Given the description of an element on the screen output the (x, y) to click on. 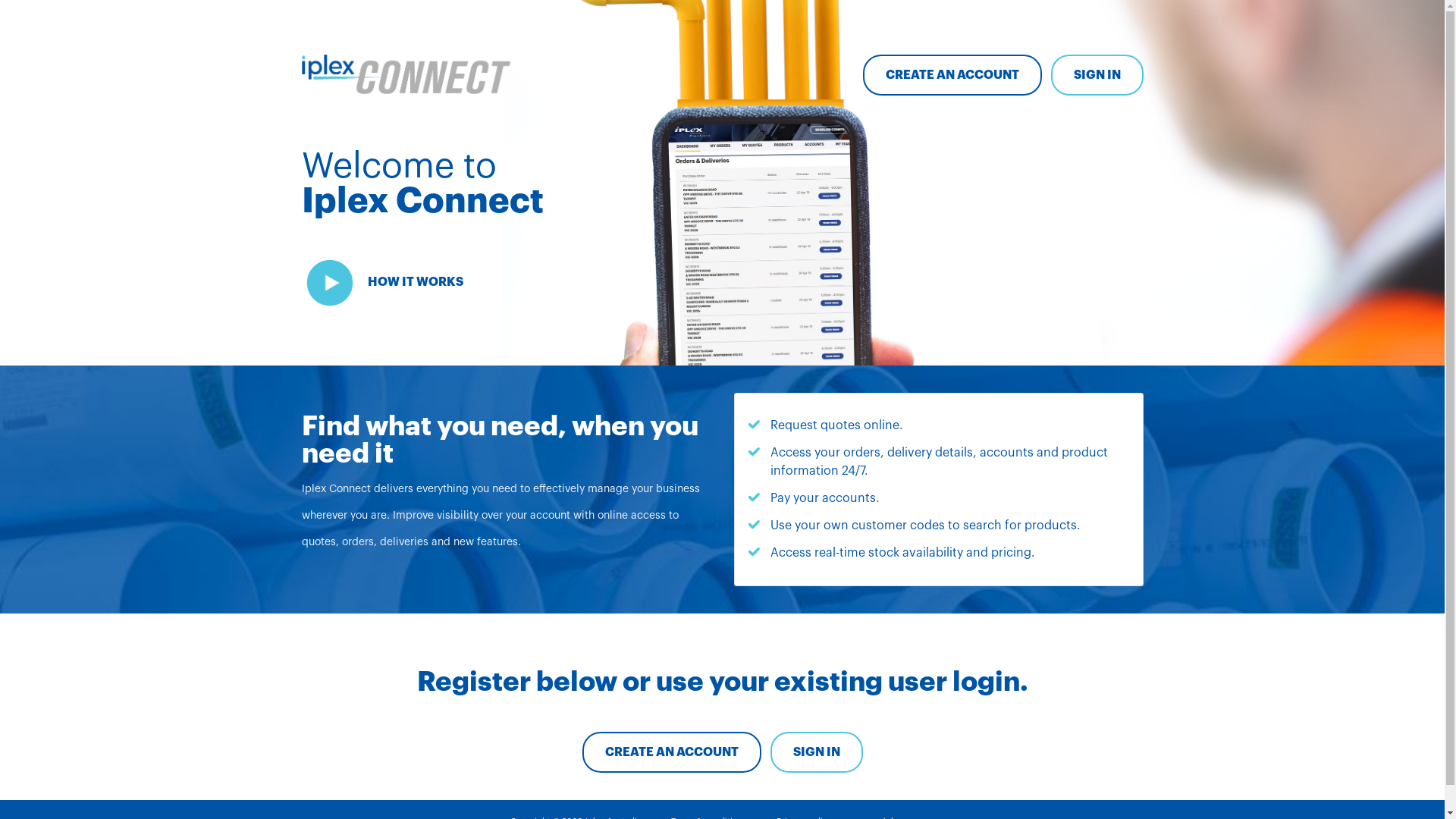
CREATE AN ACCOUNT Element type: text (951, 74)
CREATE AN ACCOUNT Element type: text (671, 751)
SIGN IN Element type: text (1097, 74)
SIGN IN Element type: text (816, 751)
HOW IT WORKS Element type: text (382, 282)
